Given the description of an element on the screen output the (x, y) to click on. 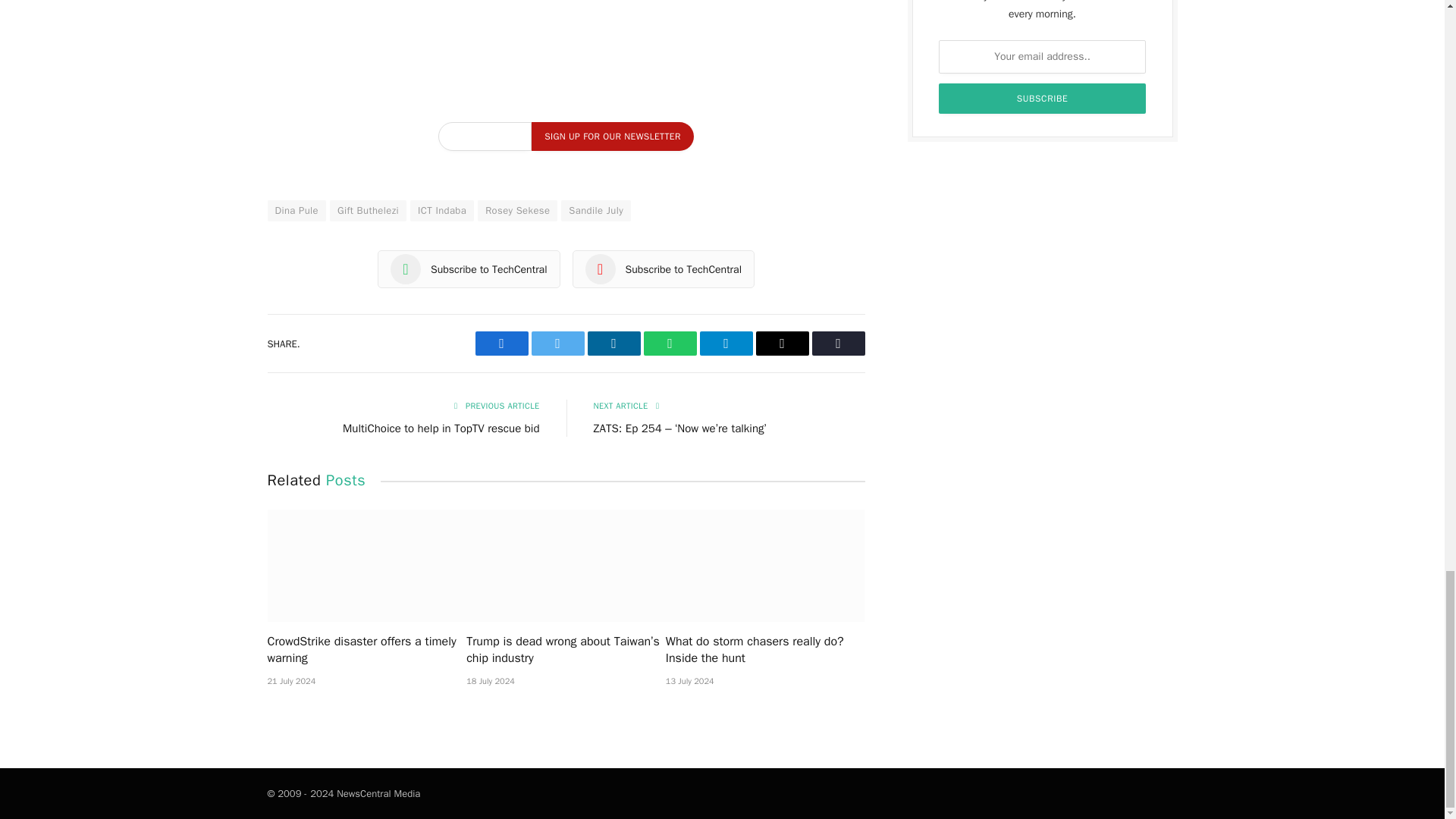
Sign up for our newsletter (612, 136)
Subscribe (1043, 98)
